Given the description of an element on the screen output the (x, y) to click on. 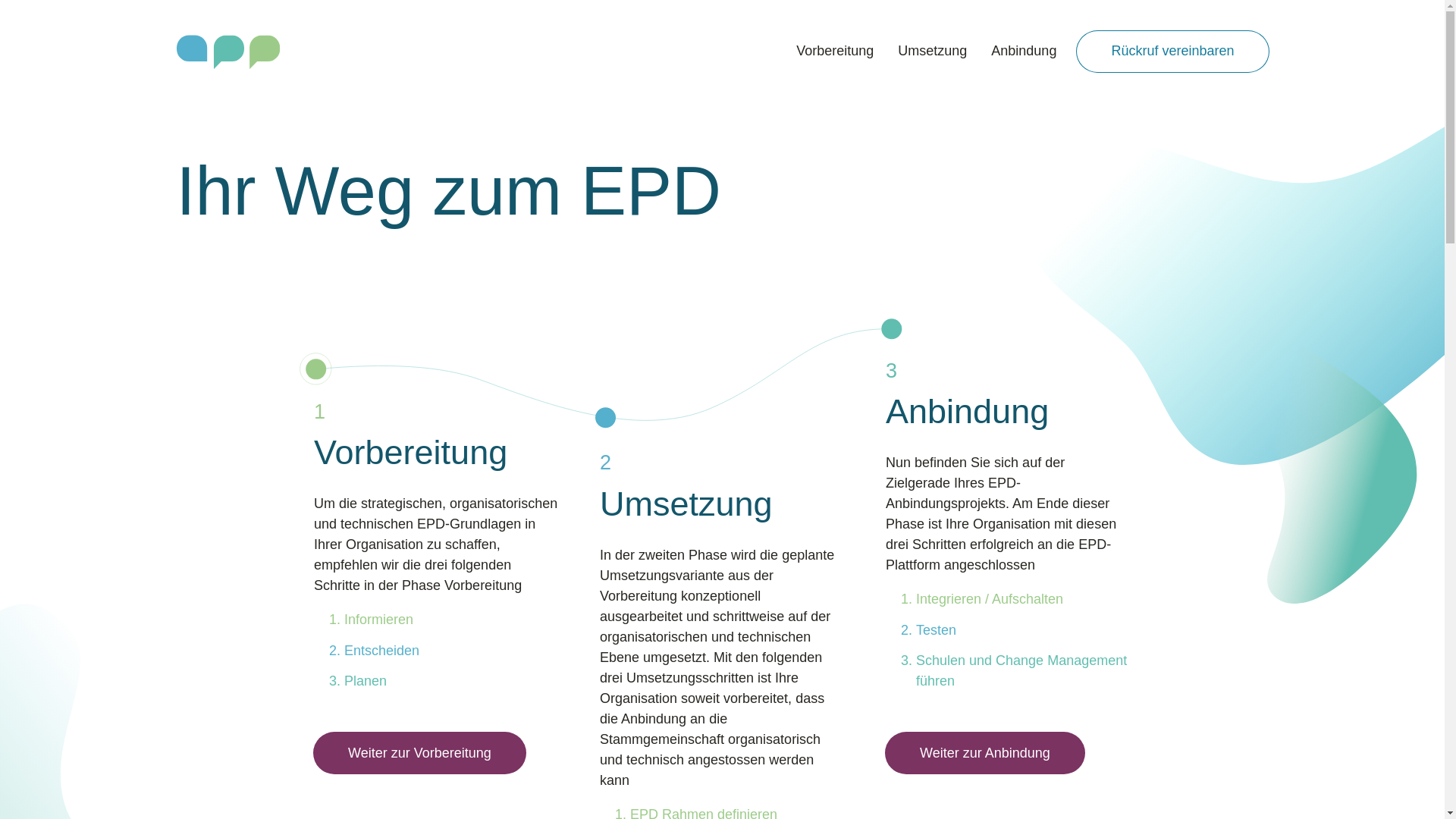
Anbindung Element type: text (1023, 50)
Umsetzung Element type: text (931, 50)
Vorbereitung Element type: text (834, 50)
Hauptinhalt Element type: text (30, 30)
Weiter zur Vorbereitung Element type: text (419, 752)
Weiter zur Anbindung Element type: text (984, 752)
Zur Startseite von APP eHealth Element type: text (227, 50)
